Given the description of an element on the screen output the (x, y) to click on. 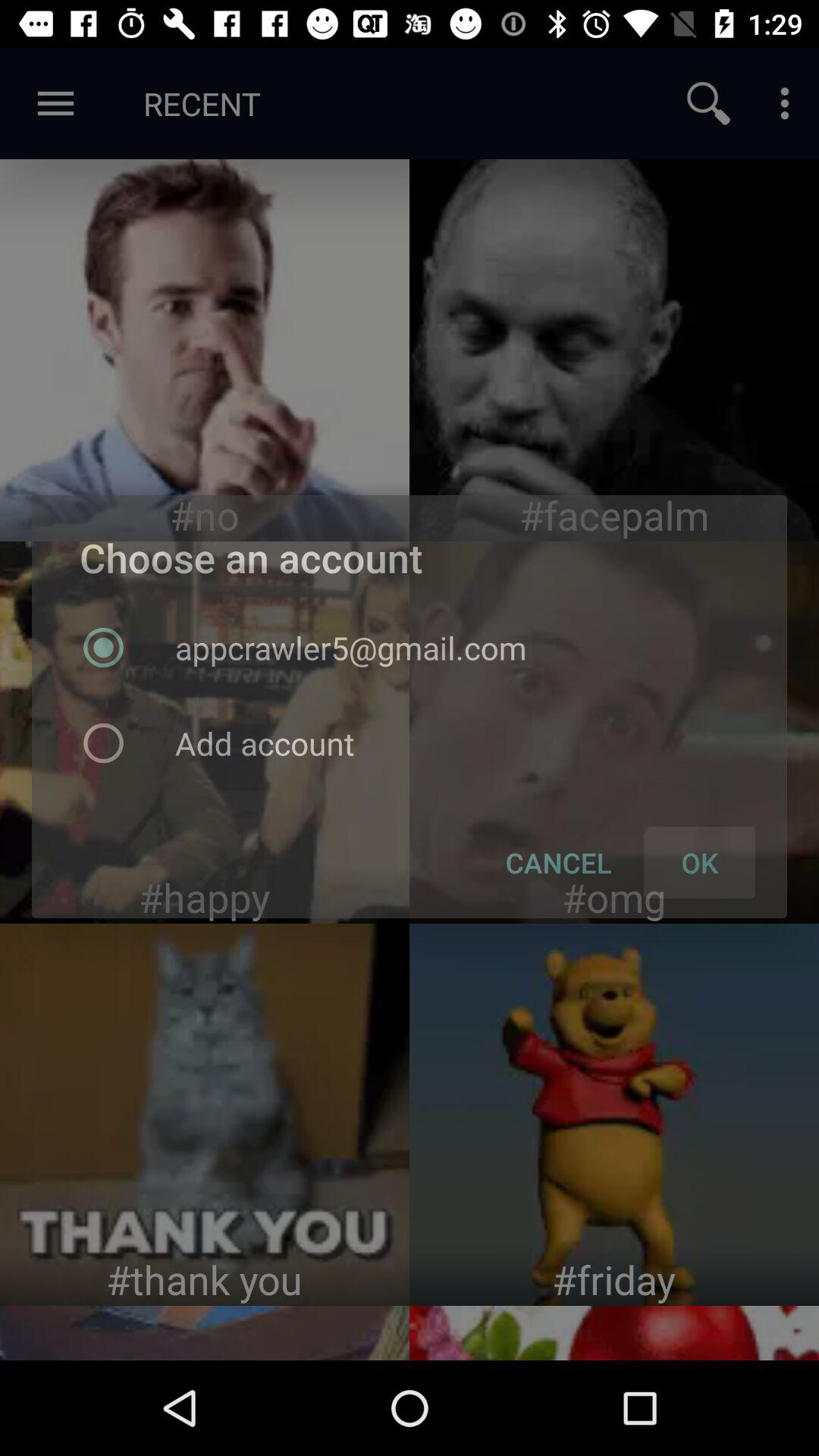
share the article (614, 350)
